Given the description of an element on the screen output the (x, y) to click on. 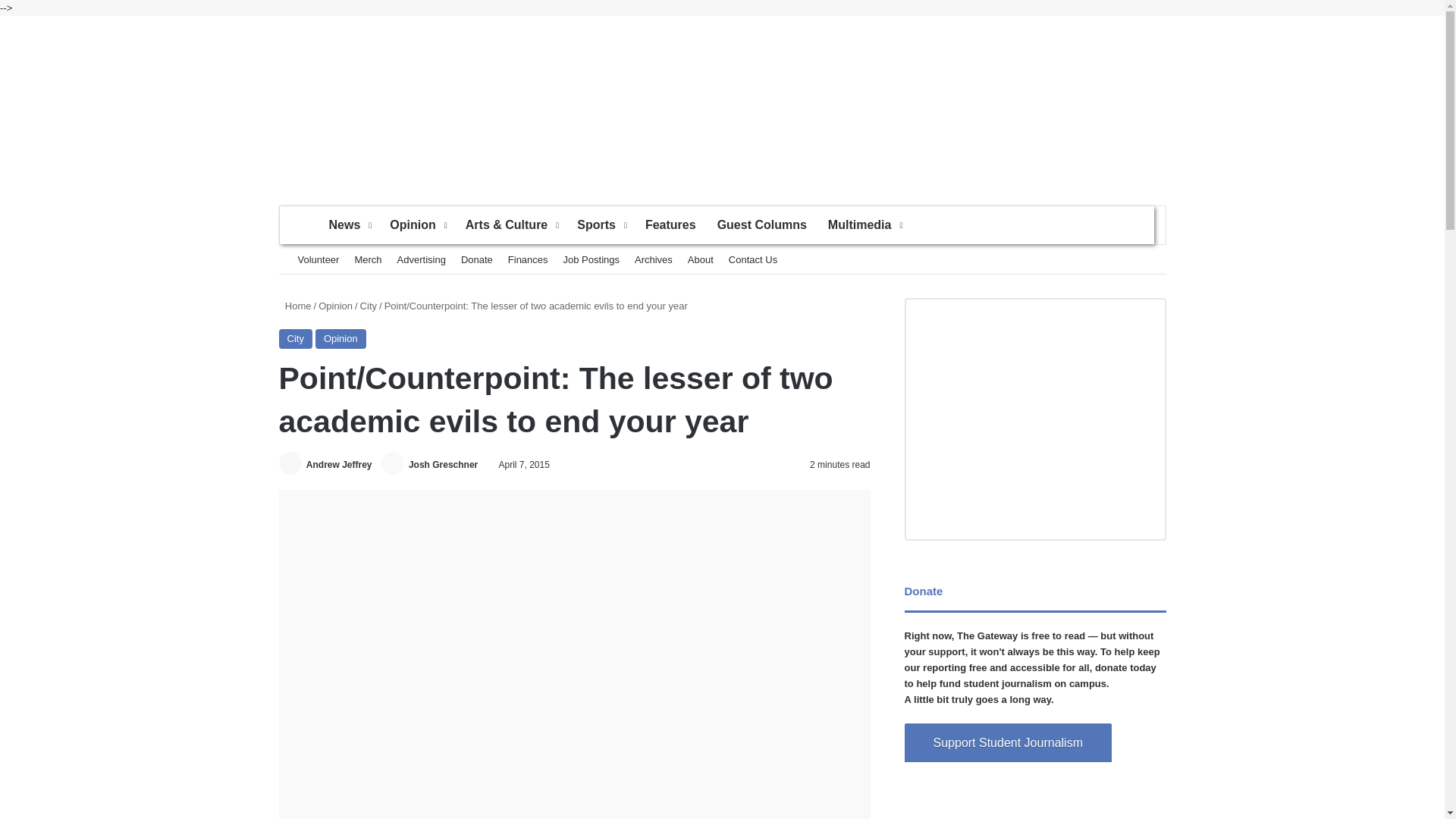
Opinion (416, 225)
Guest Columns (761, 225)
Features (670, 225)
The Gateway (722, 102)
Sports (600, 225)
Multimedia (863, 225)
Andrew Jeffrey (338, 464)
News (349, 225)
Josh Greschner (443, 464)
